Given the description of an element on the screen output the (x, y) to click on. 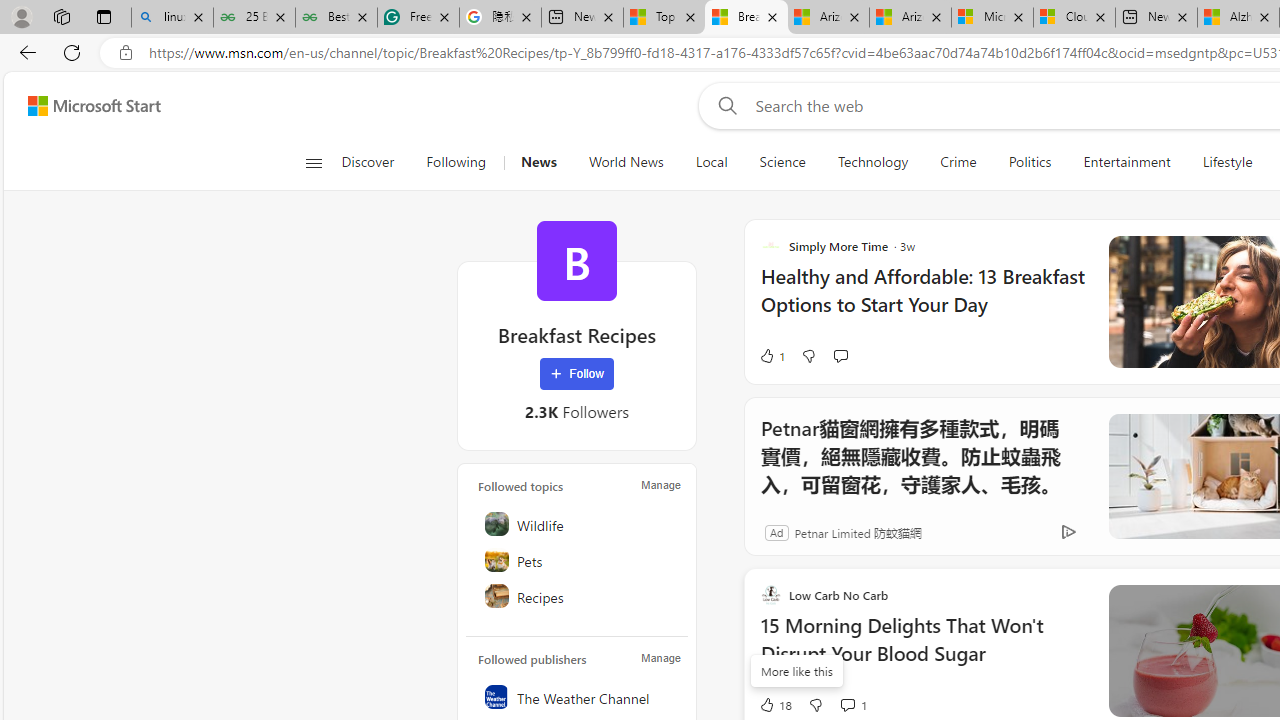
Local (710, 162)
Recipes (578, 596)
Top Stories - MSN (664, 17)
The Weather Channel (578, 696)
Best SSL Certificates Provider in India - GeeksforGeeks (336, 17)
Cloud Computing Services | Microsoft Azure (1074, 17)
Technology (872, 162)
Microsoft Start (94, 105)
Entertainment (1126, 162)
Entertainment (1126, 162)
